Given the description of an element on the screen output the (x, y) to click on. 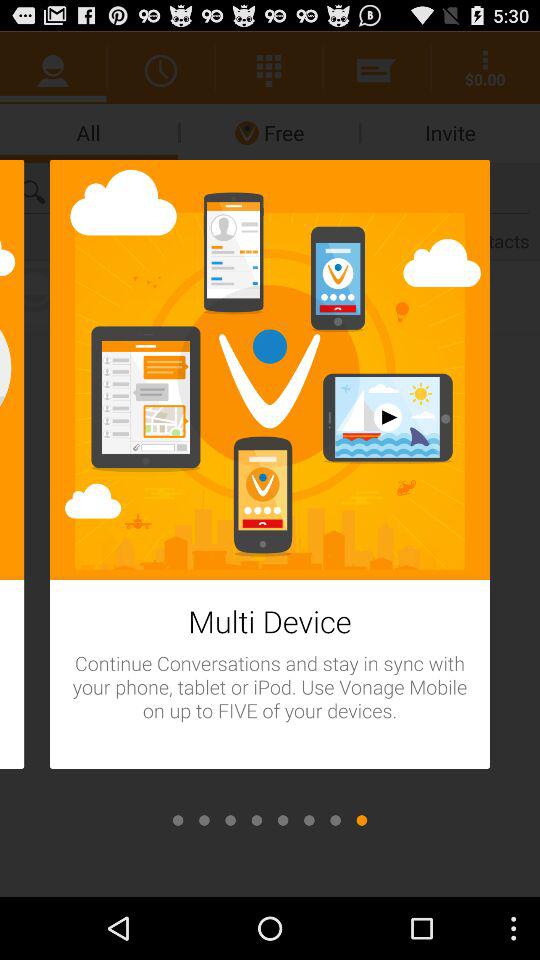
previous page (230, 820)
